Given the description of an element on the screen output the (x, y) to click on. 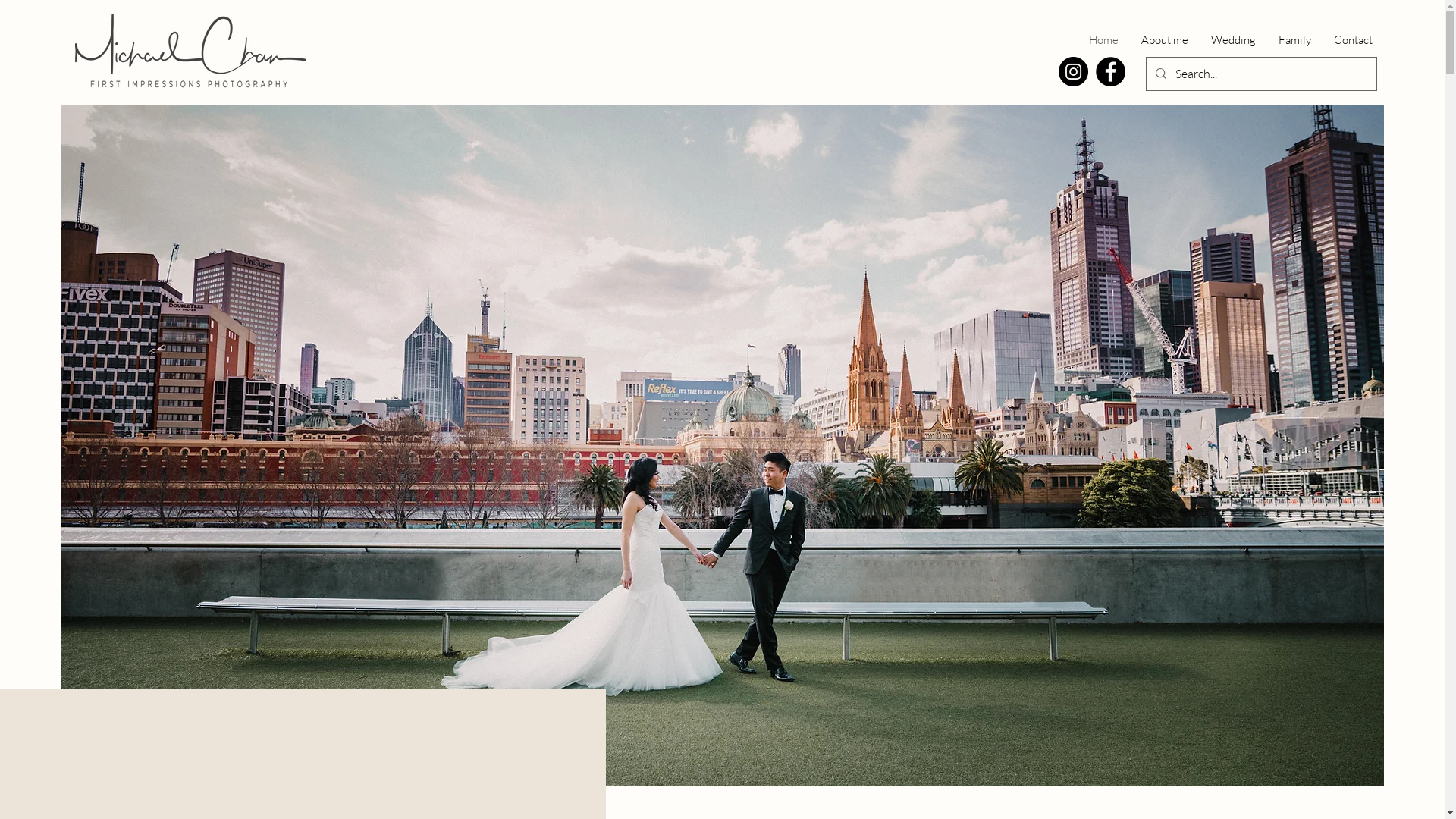
Home Element type: text (1103, 39)
Family Element type: text (1294, 39)
Wedding Element type: text (1233, 39)
Contact Element type: text (1352, 39)
About me Element type: text (1164, 39)
